Given the description of an element on the screen output the (x, y) to click on. 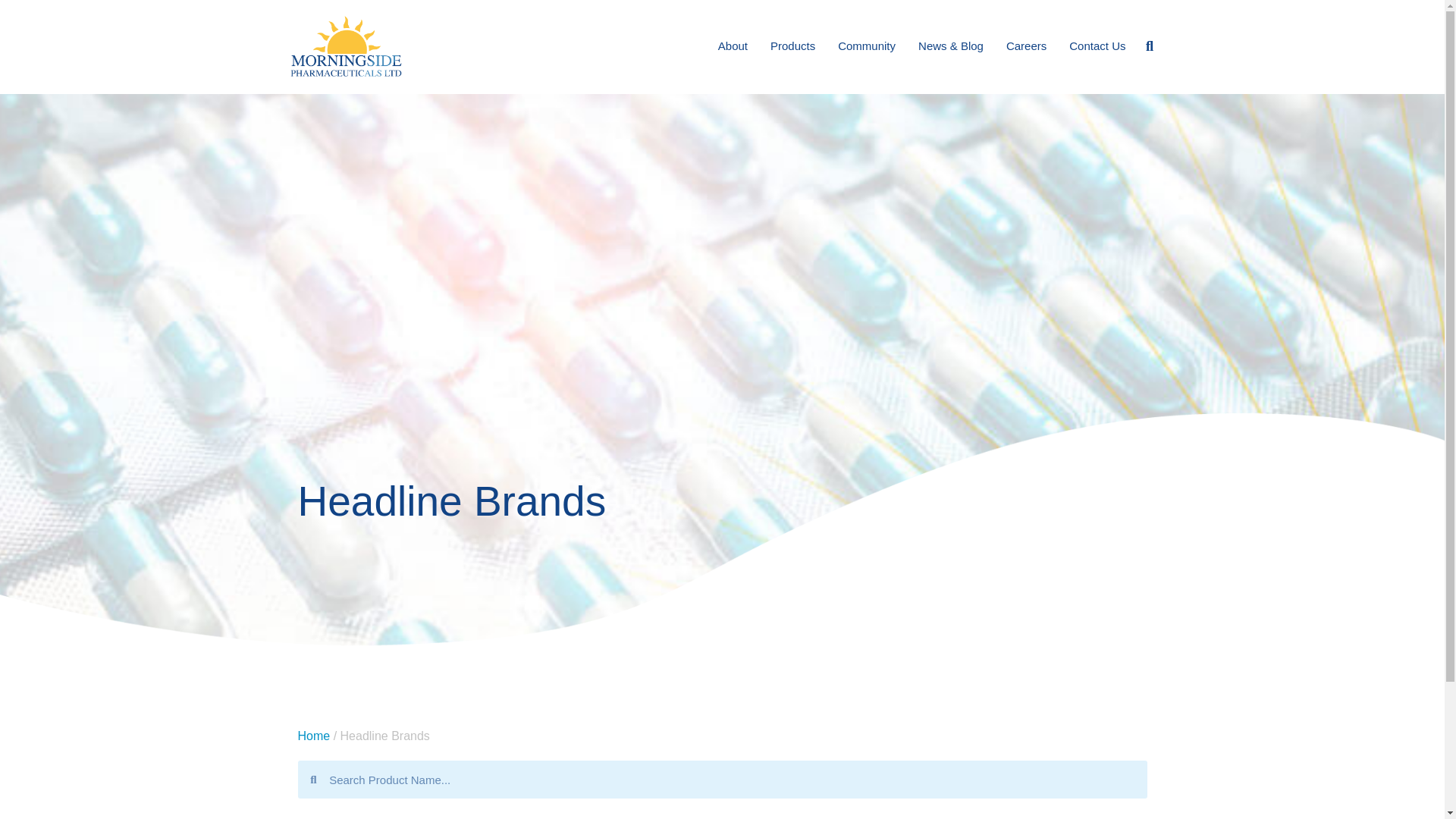
Community (867, 46)
Products (792, 46)
Contact Us (1097, 46)
About (732, 46)
Careers (1026, 46)
